Given the description of an element on the screen output the (x, y) to click on. 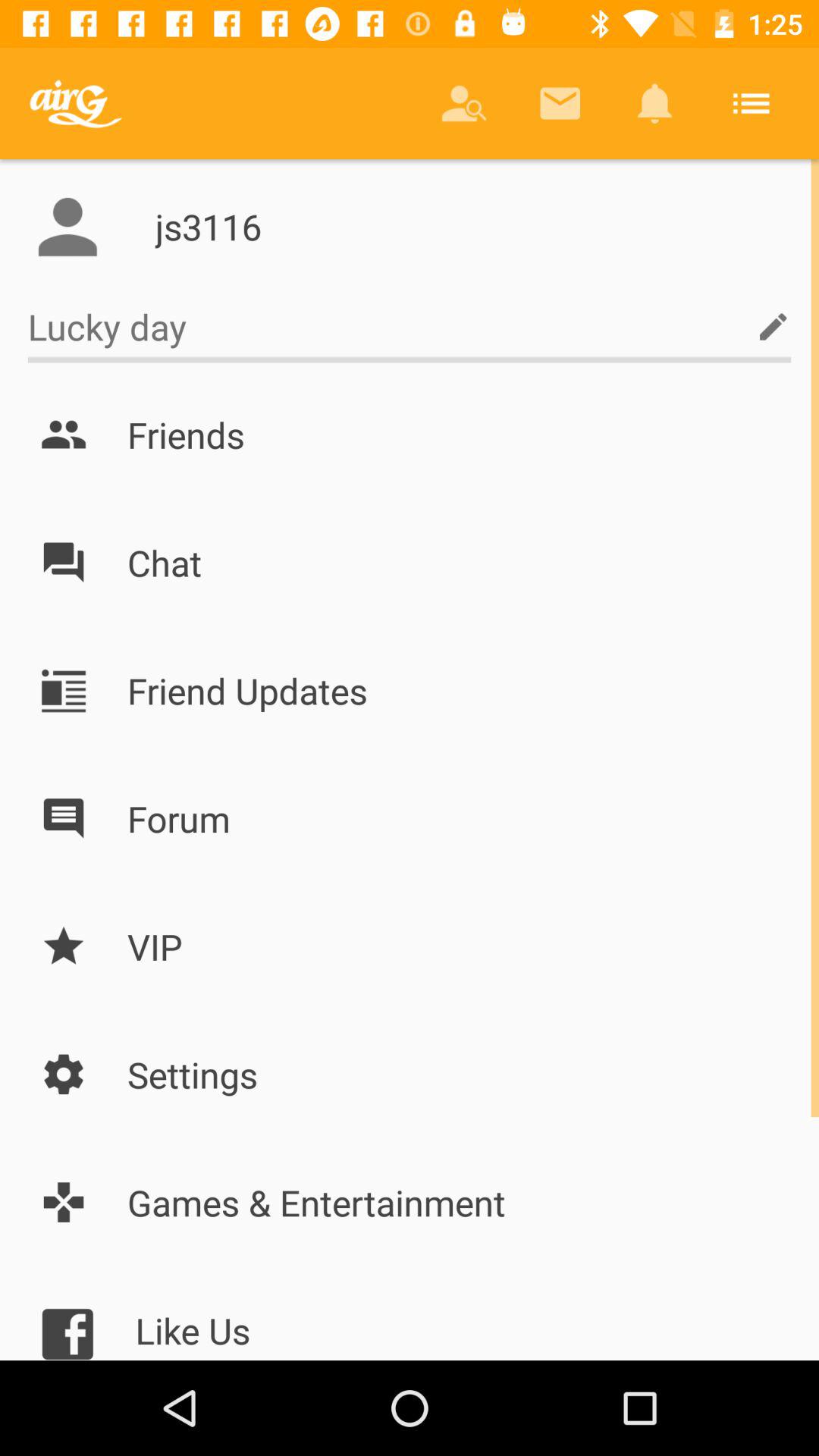
profile (67, 226)
